Given the description of an element on the screen output the (x, y) to click on. 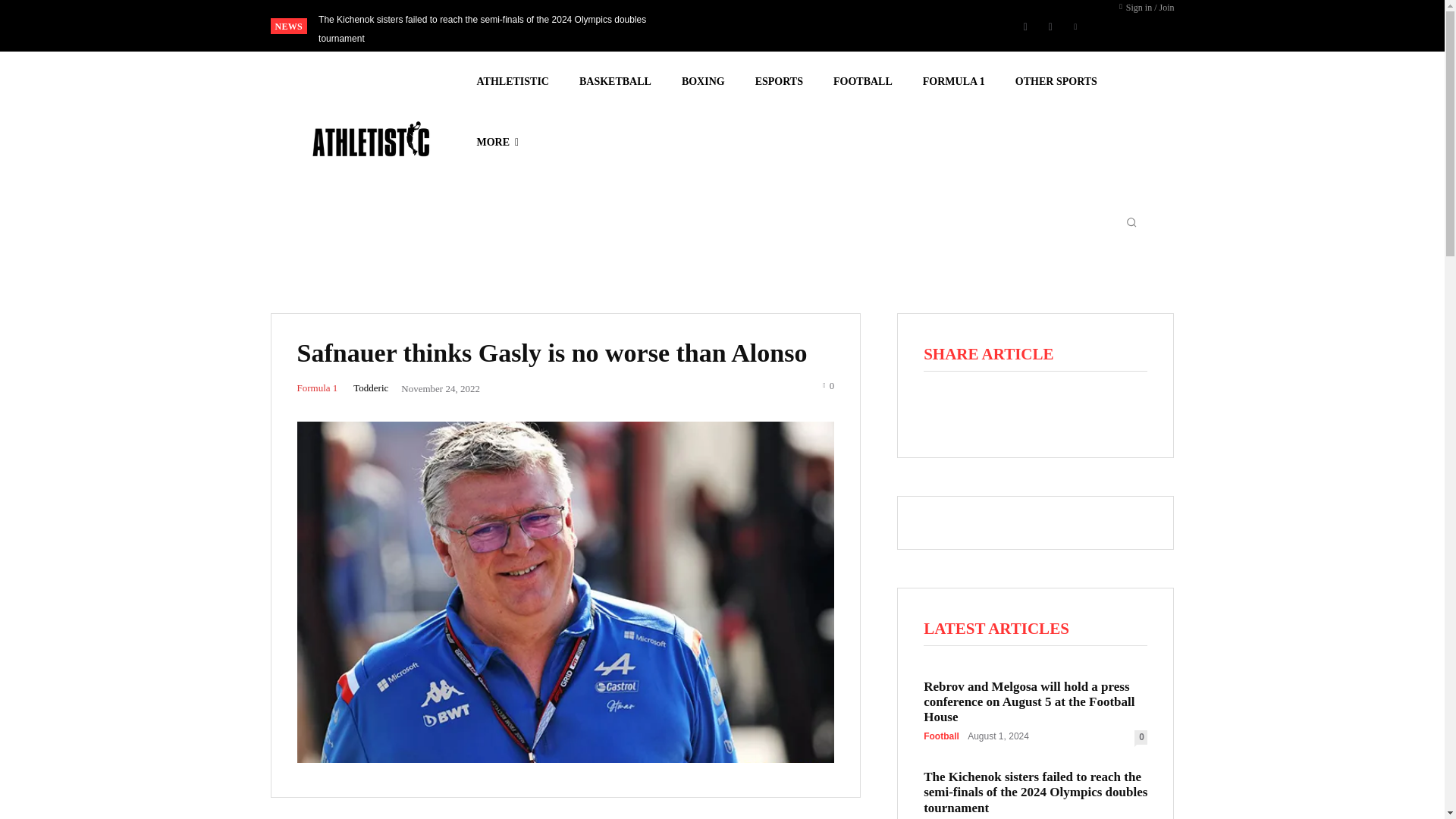
Facebook (1024, 25)
